Given the description of an element on the screen output the (x, y) to click on. 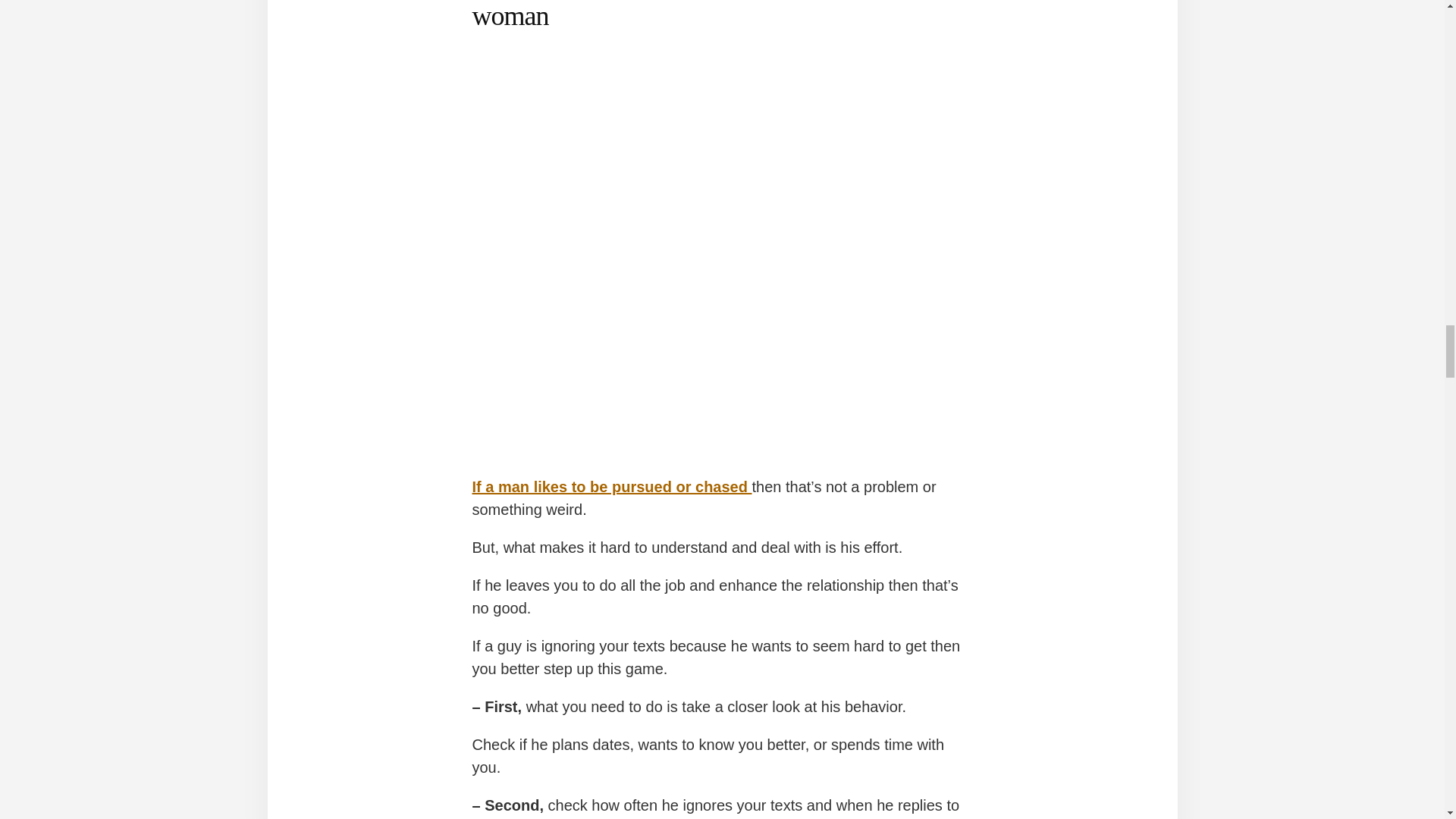
If a man likes to be pursued or chased (611, 486)
